Given the description of an element on the screen output the (x, y) to click on. 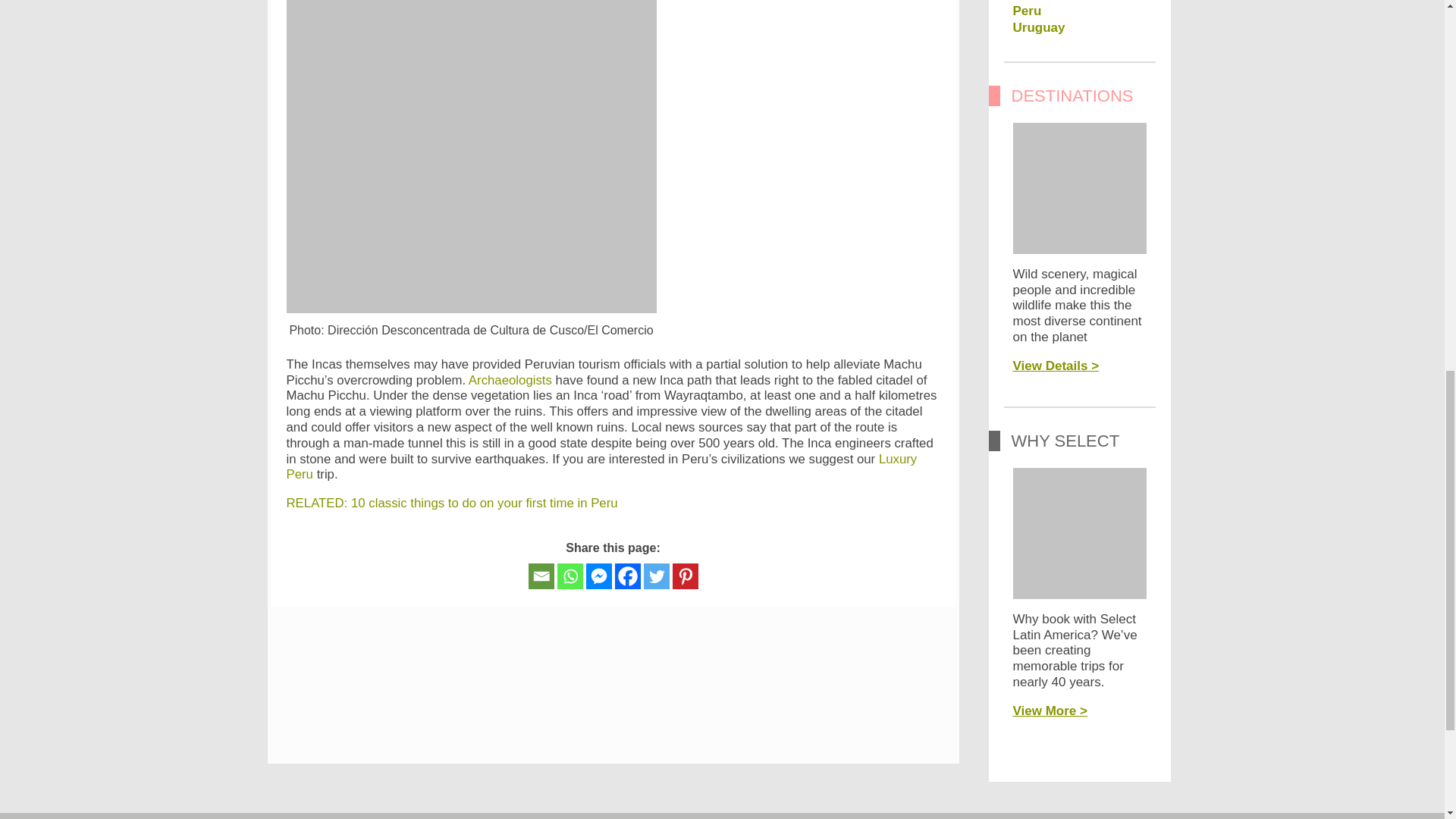
Pinterest (684, 575)
Email (540, 575)
Twitter (655, 575)
Facebook (627, 575)
Inca road (509, 380)
Luxury Peru (601, 467)
Whatsapp (569, 575)
